Given the description of an element on the screen output the (x, y) to click on. 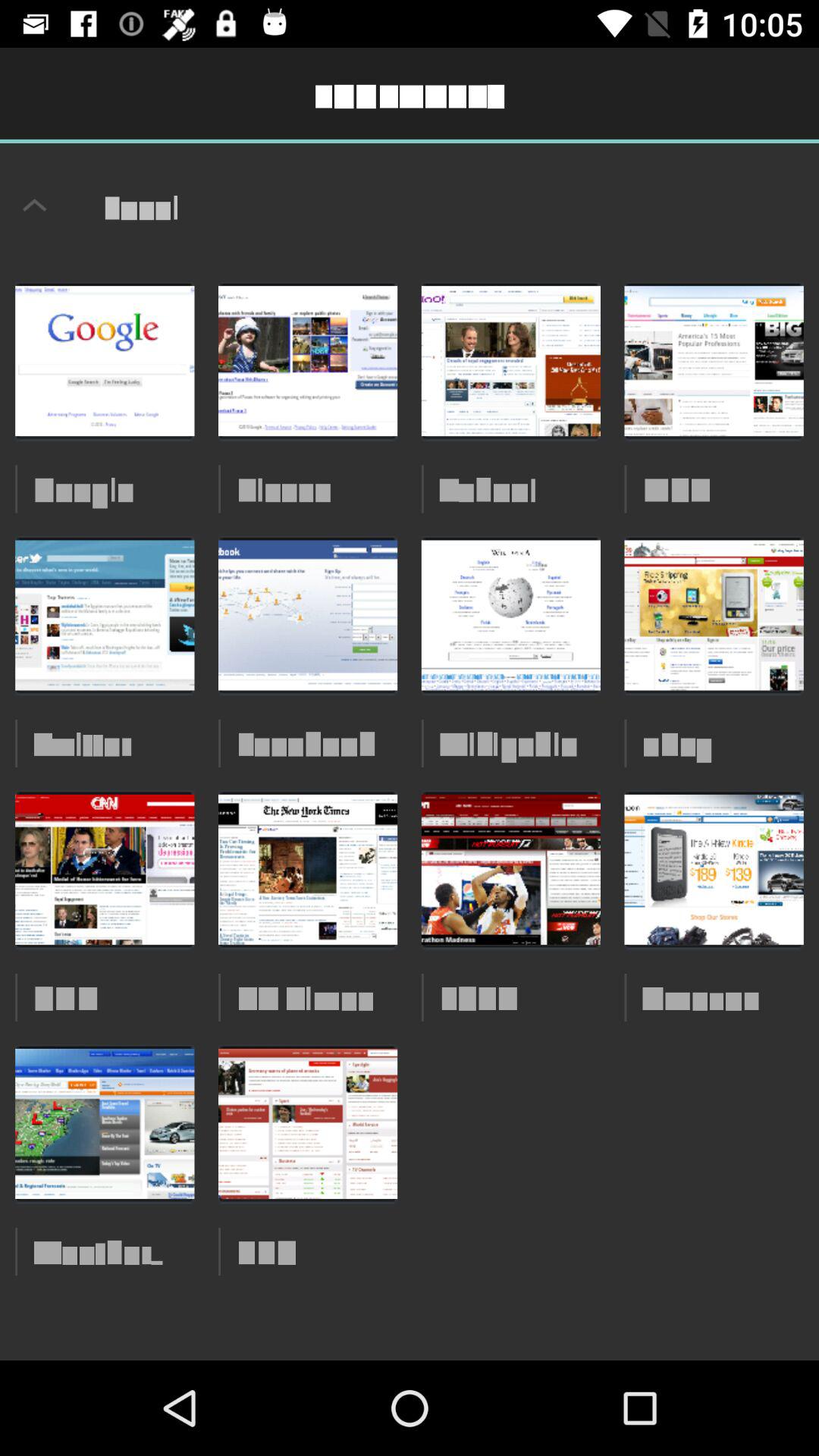
select the third image from the top right corner of the web page (713, 870)
click on the fourth image of the page (713, 361)
